Given the description of an element on the screen output the (x, y) to click on. 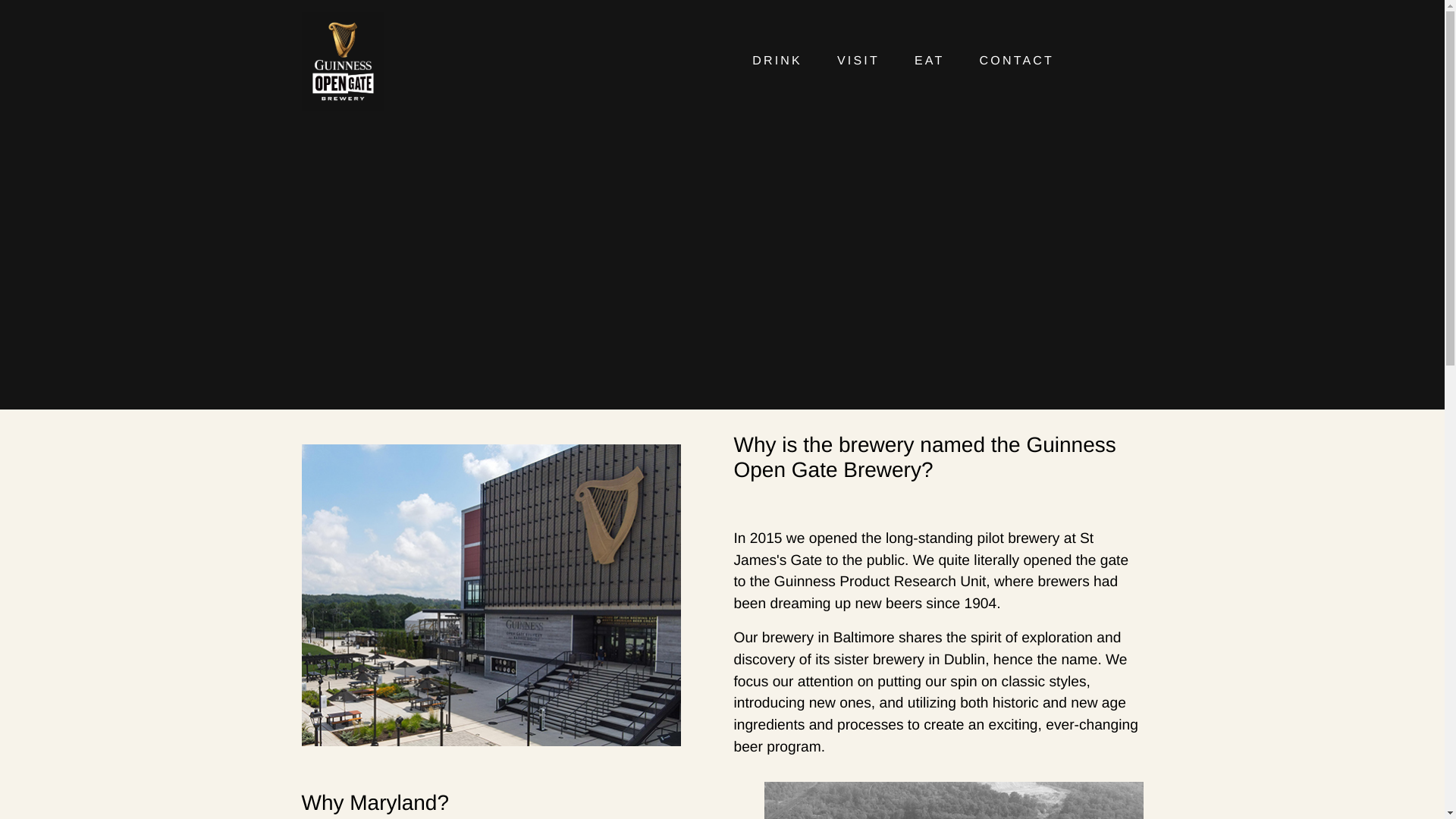
DRINK (776, 60)
EAT (929, 60)
VISIT (858, 60)
CONTACT (1017, 60)
